Given the description of an element on the screen output the (x, y) to click on. 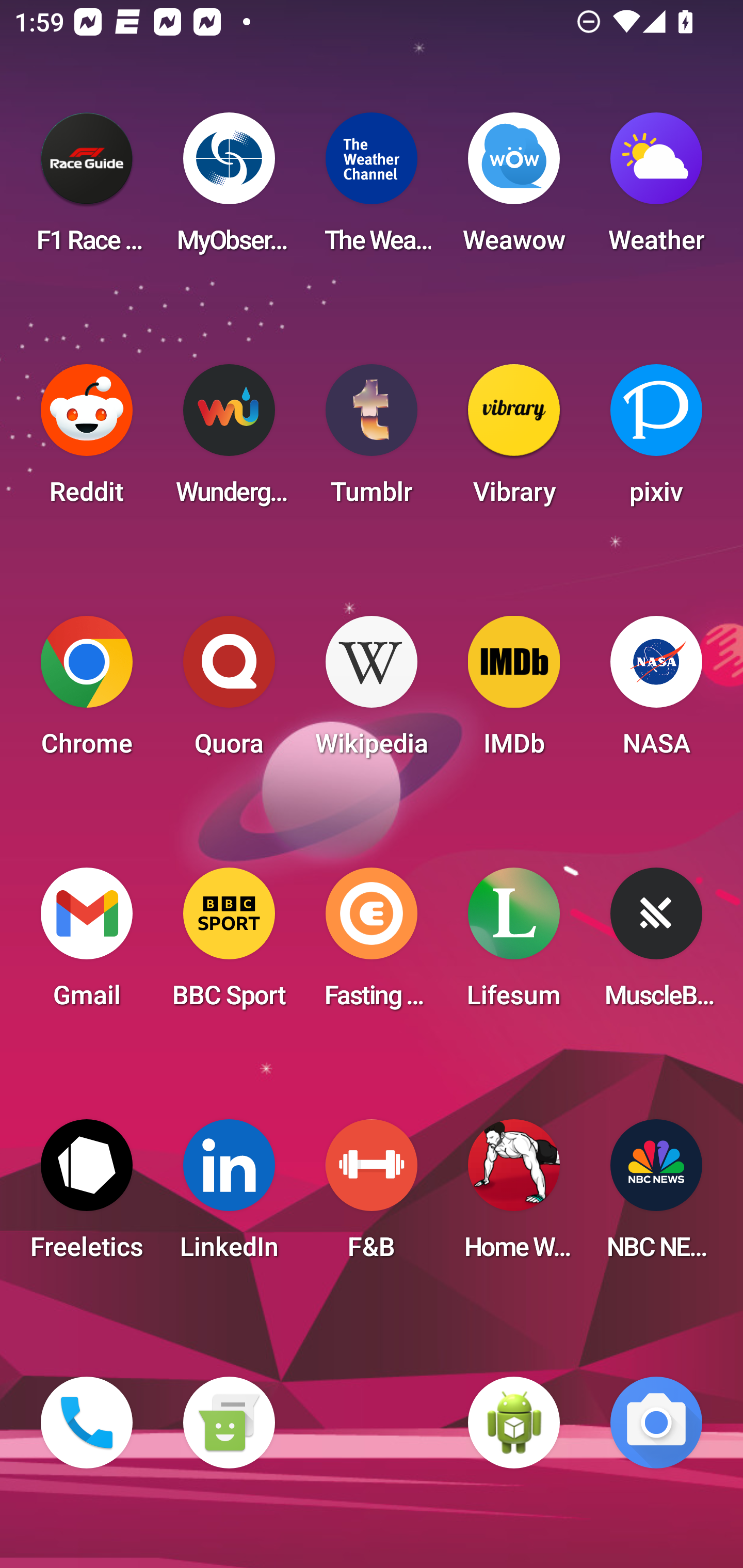
F1 Race Guide (86, 188)
MyObservatory (228, 188)
The Weather Channel (371, 188)
Weawow (513, 188)
Weather (656, 188)
Reddit (86, 440)
Wunderground (228, 440)
Tumblr (371, 440)
Vibrary (513, 440)
pixiv (656, 440)
Chrome (86, 692)
Quora (228, 692)
Wikipedia (371, 692)
IMDb (513, 692)
NASA (656, 692)
Gmail (86, 943)
BBC Sport (228, 943)
Fasting Coach (371, 943)
Lifesum (513, 943)
MuscleBooster (656, 943)
Freeletics (86, 1195)
LinkedIn (228, 1195)
F&B (371, 1195)
Home Workout (513, 1195)
NBC NEWS (656, 1195)
Phone (86, 1422)
Messaging (228, 1422)
WebView Browser Tester (513, 1422)
Camera (656, 1422)
